Given the description of an element on the screen output the (x, y) to click on. 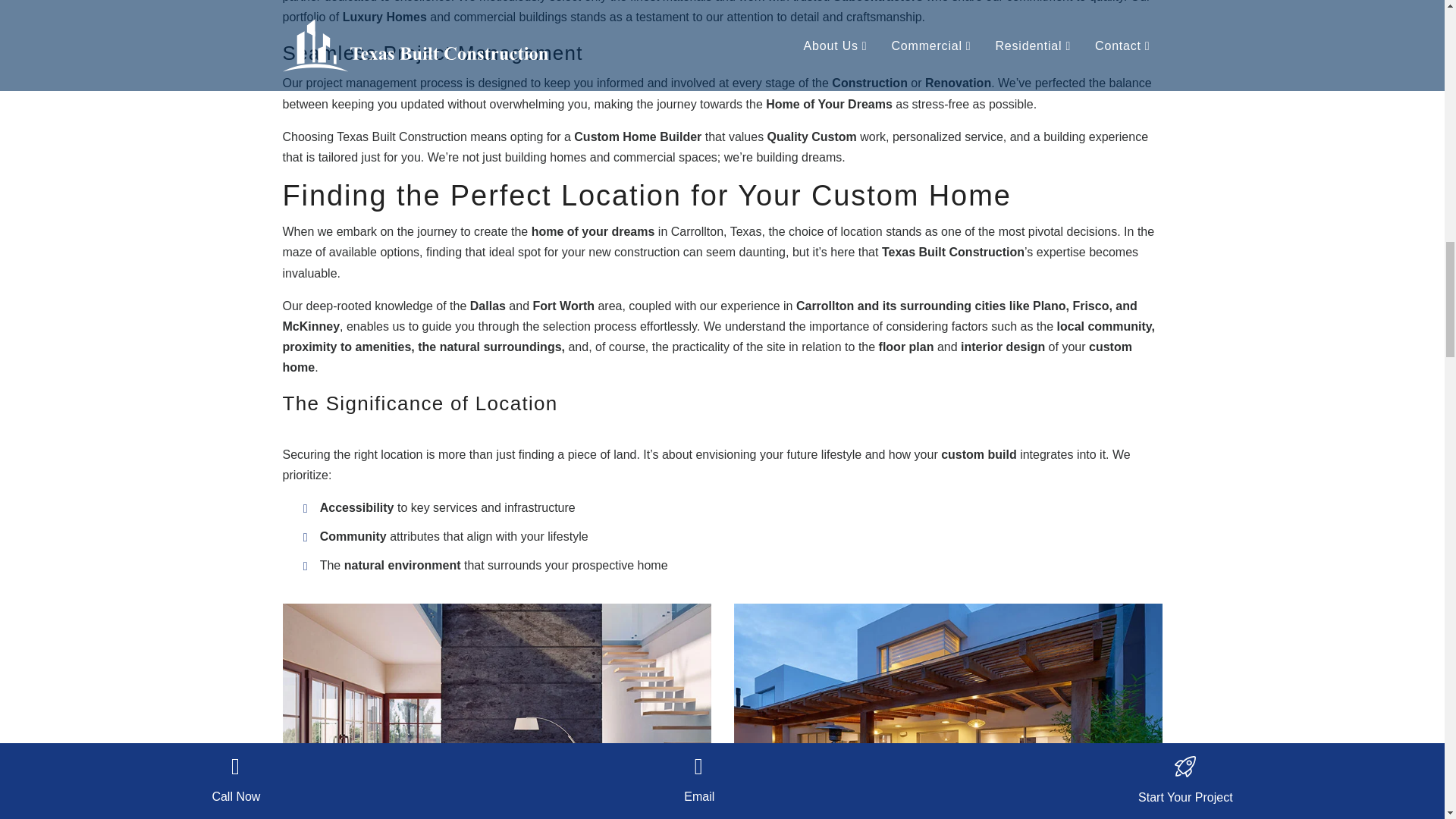
Texas custom home builder (947, 711)
Custom home construction company (496, 711)
